Given the description of an element on the screen output the (x, y) to click on. 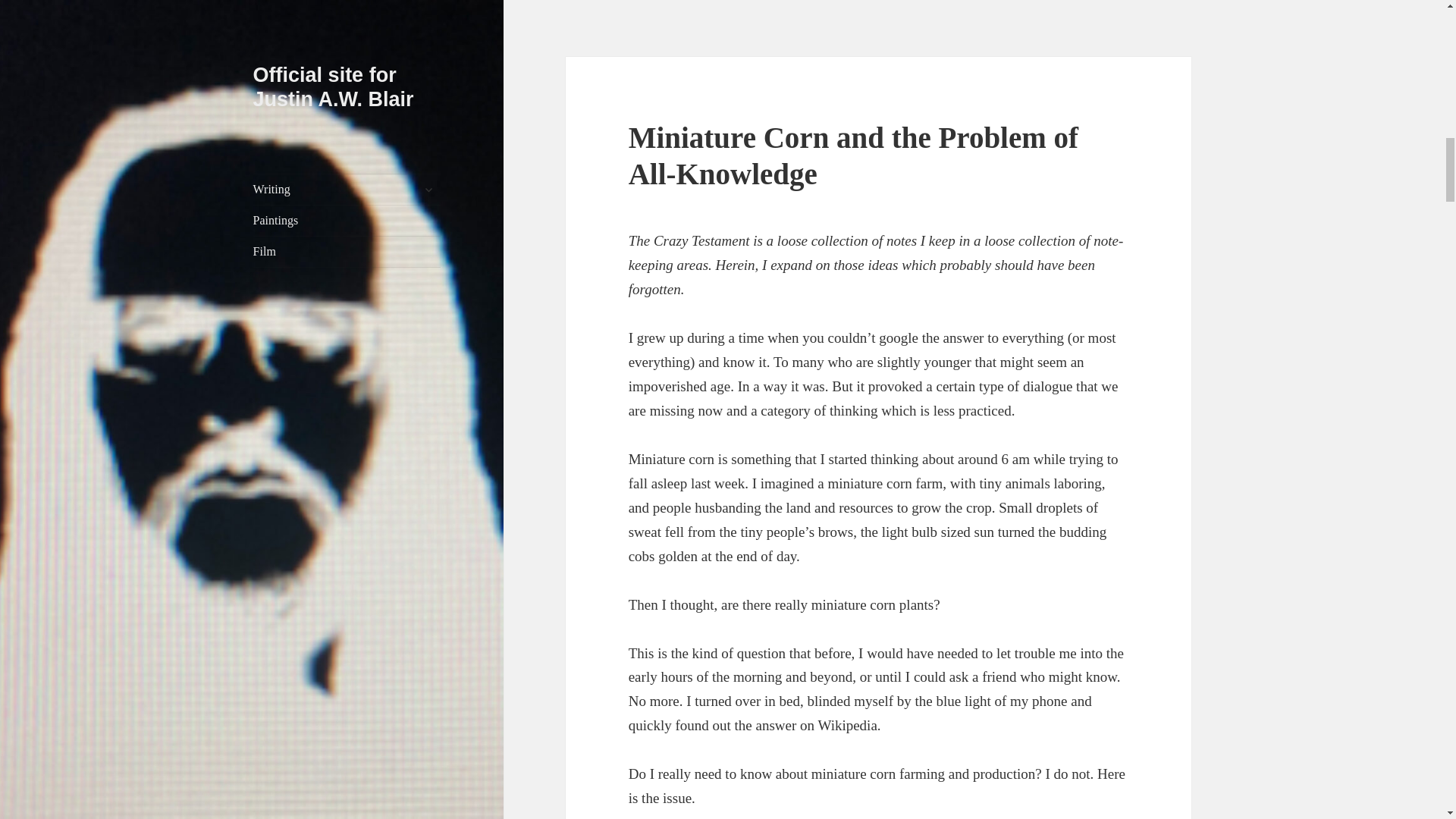
Miniature Corn and the Problem of All-Knowledge (853, 155)
